Given the description of an element on the screen output the (x, y) to click on. 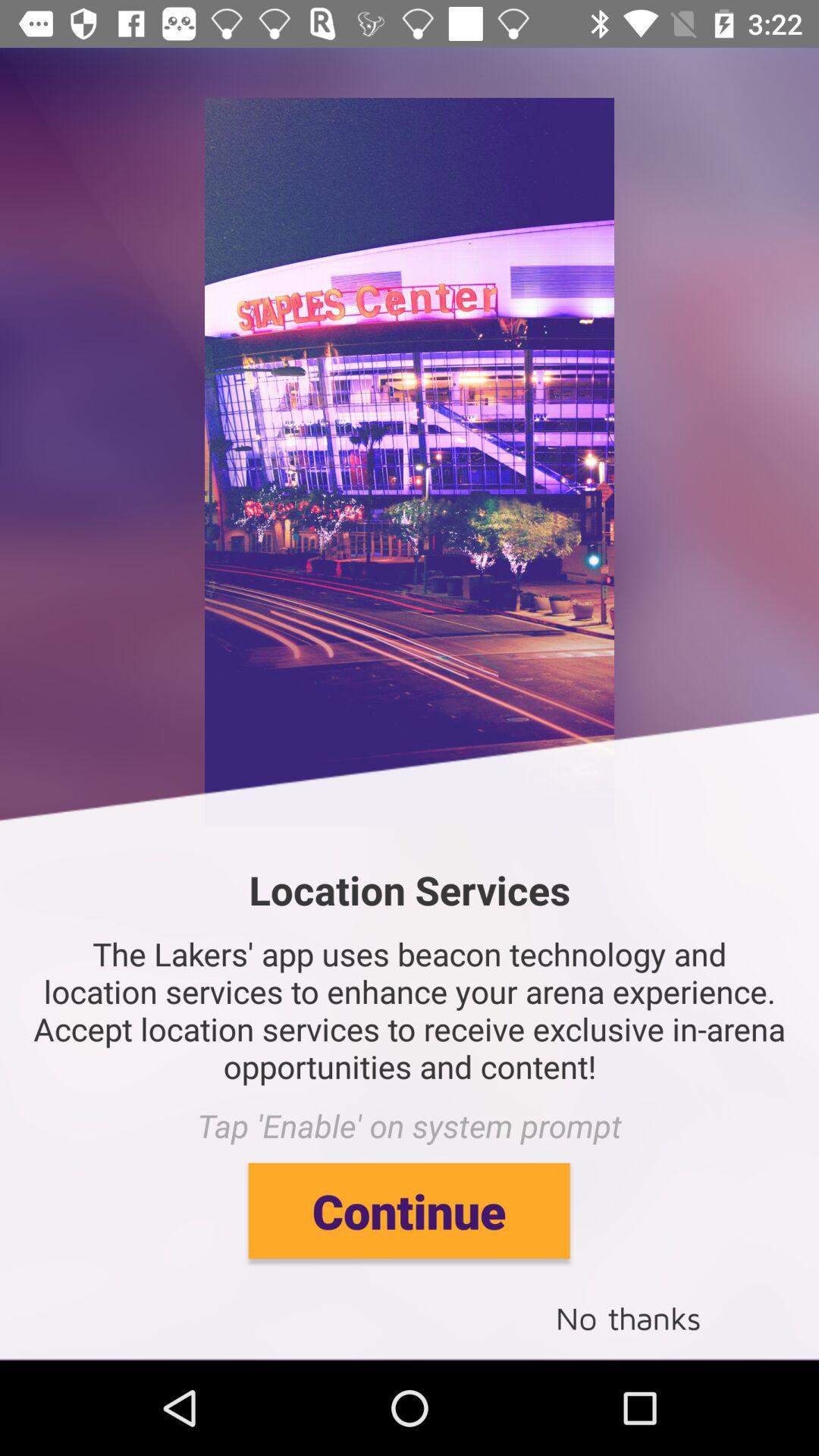
press no thanks icon (627, 1317)
